Given the description of an element on the screen output the (x, y) to click on. 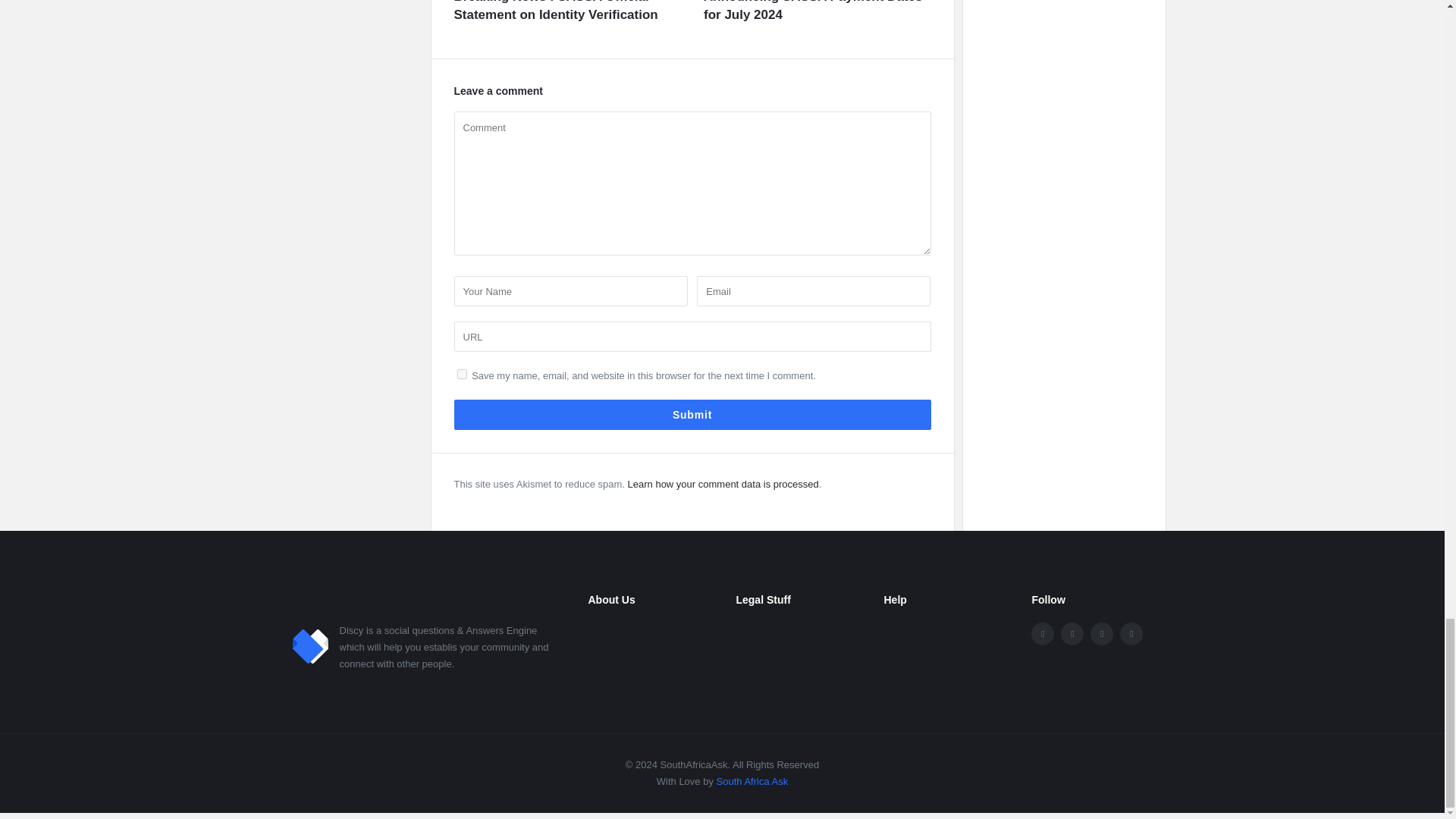
Submit (691, 414)
yes (461, 374)
Announcing SASSA Payment Dates for July 2024 (817, 12)
